Given the description of an element on the screen output the (x, y) to click on. 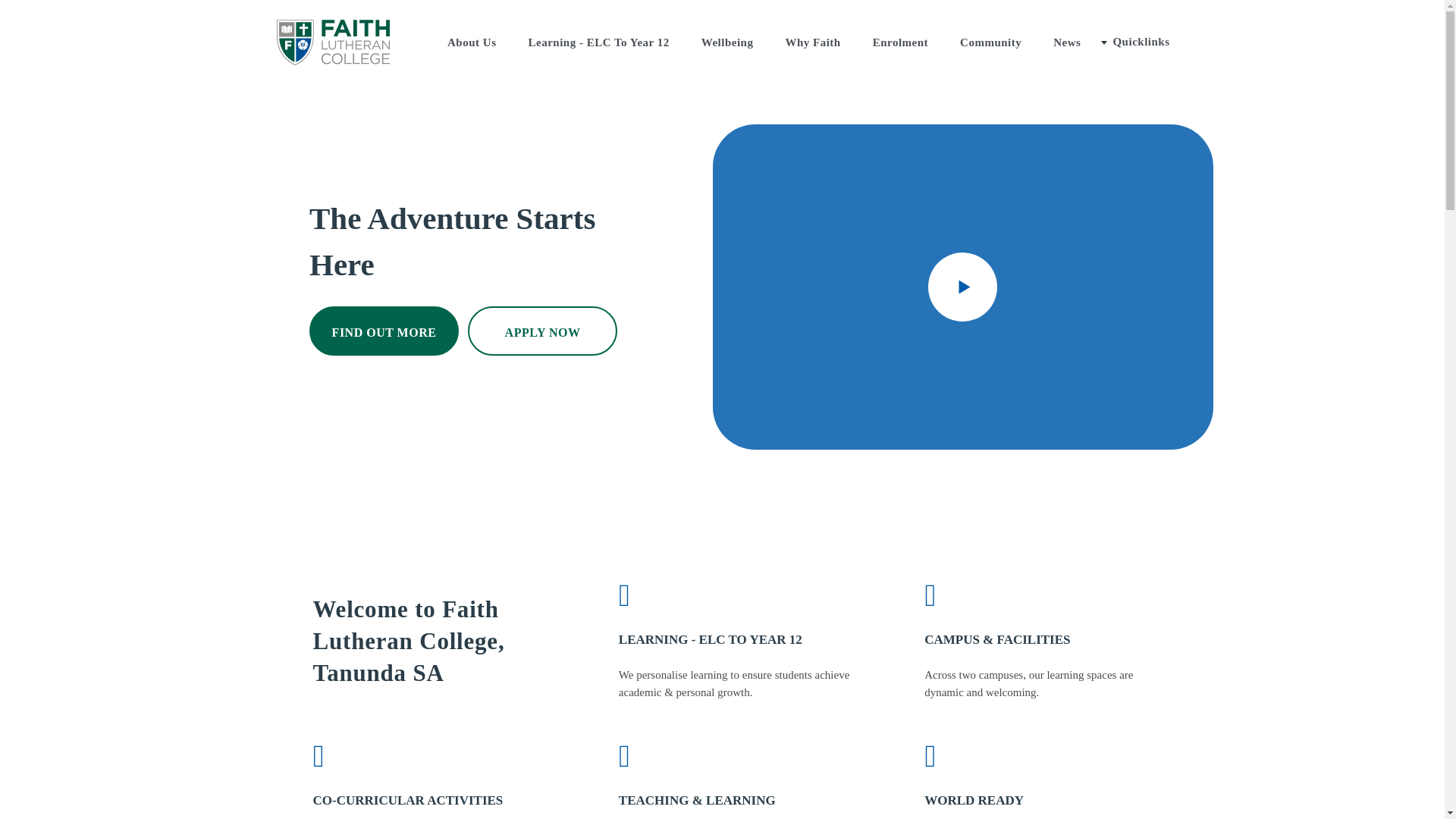
Play video (962, 286)
Back to Homepage (332, 42)
Wellbeing (727, 42)
Enrolment (900, 42)
About Us (471, 42)
Learning - ELC to Year 12 (737, 605)
Learning - ELC To Year 12 (597, 42)
Co-curricular Activities (431, 767)
World Ready (1042, 767)
Why Faith (812, 42)
